Given the description of an element on the screen output the (x, y) to click on. 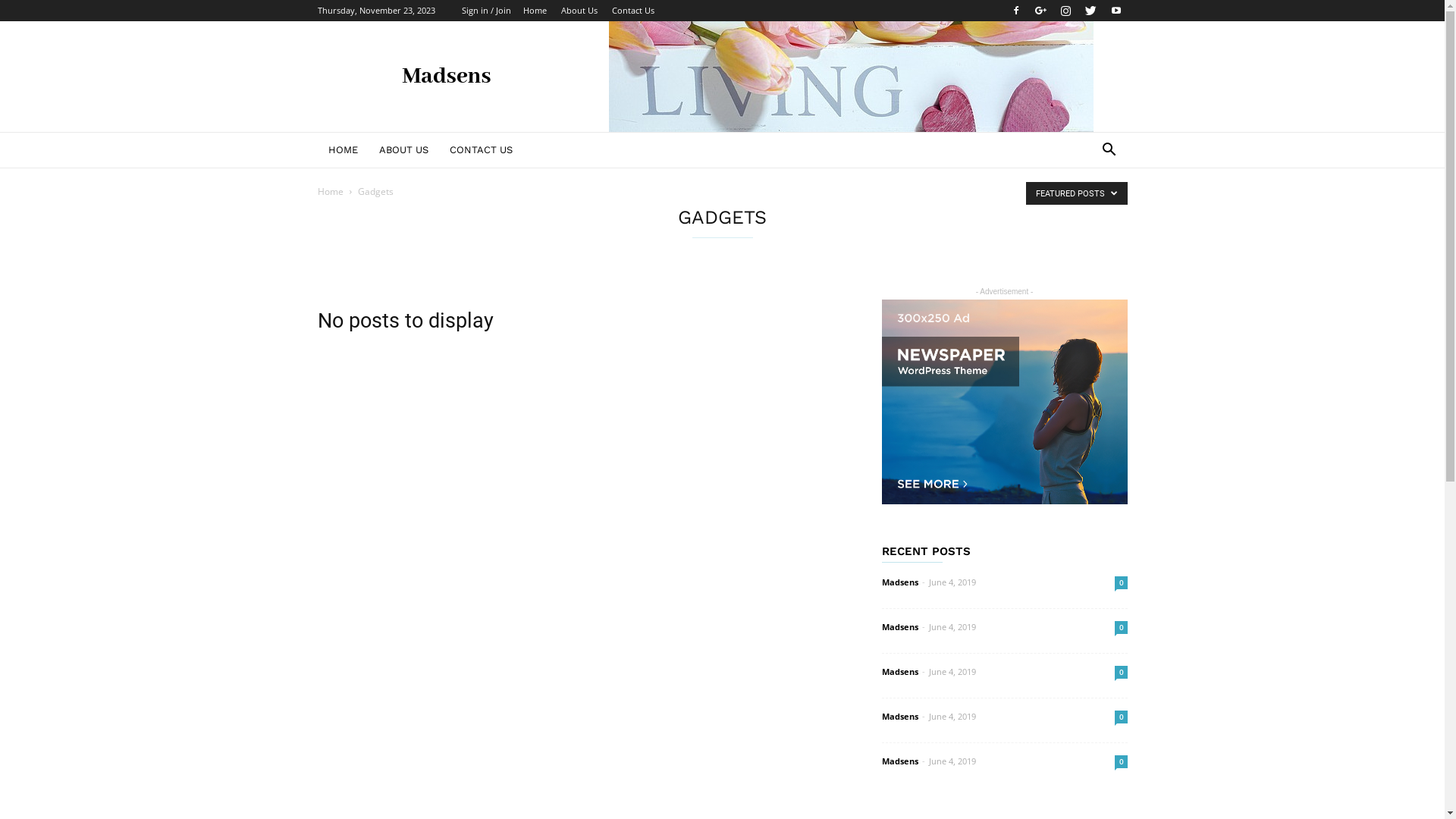
Google+ Element type: hover (1040, 10)
Madsens Element type: text (899, 626)
Contact Us Element type: text (632, 9)
Madsens Element type: text (899, 760)
Home Element type: text (534, 9)
0 Element type: text (1120, 582)
Search Element type: text (1085, 210)
ABOUT US Element type: text (403, 149)
0 Element type: text (1120, 716)
Sign in / Join Element type: text (485, 9)
Home Element type: text (329, 191)
0 Element type: text (1120, 627)
Instagram Element type: hover (1065, 10)
Madsens Element type: text (899, 581)
Madsens Element type: text (899, 671)
HOME Element type: text (341, 149)
CONTACT US Element type: text (480, 149)
0 Element type: text (1120, 761)
About Us Element type: text (579, 9)
Facebook Element type: hover (1015, 10)
Madsens Element type: text (899, 715)
Youtube Element type: hover (1115, 10)
0 Element type: text (1120, 671)
Twitter Element type: hover (1090, 10)
